Given the description of an element on the screen output the (x, y) to click on. 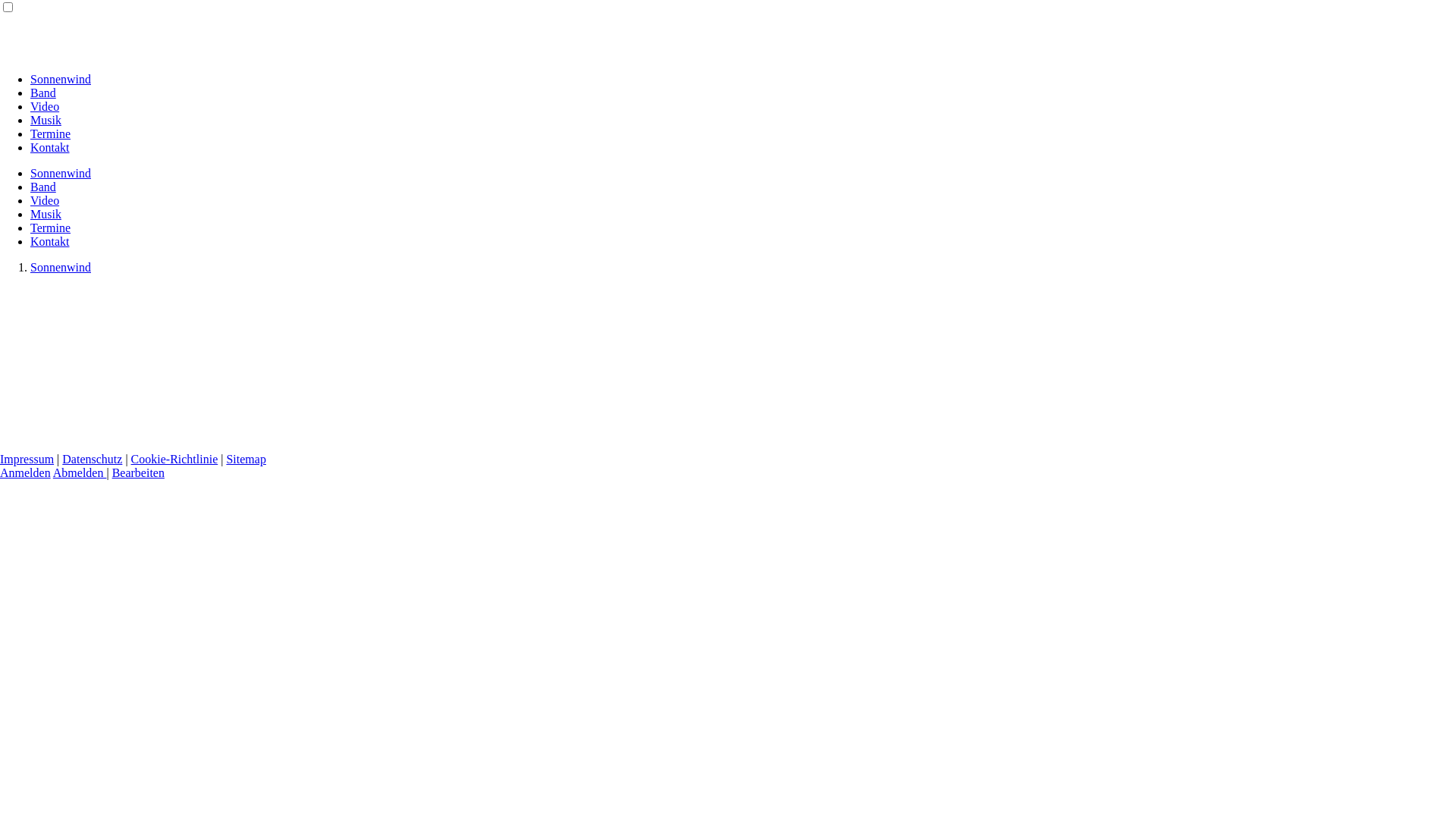
Sitemap Element type: text (245, 458)
Sonnenwind Element type: text (60, 172)
Sonnenwind Element type: text (60, 266)
Abmelden Element type: text (79, 472)
Kontakt Element type: text (49, 241)
Datenschutz Element type: text (92, 458)
Band Element type: text (43, 92)
Musik Element type: text (45, 213)
Sonnenwind Element type: text (60, 78)
Impressum Element type: text (26, 458)
Video Element type: text (44, 200)
Band Element type: text (43, 186)
Bearbeiten Element type: text (138, 472)
Video Element type: text (44, 106)
Termine Element type: text (50, 227)
Musik Element type: text (45, 119)
Cookie-Richtlinie Element type: text (174, 458)
Termine Element type: text (50, 133)
Anmelden Element type: text (25, 472)
Kontakt Element type: text (49, 147)
